Given the description of an element on the screen output the (x, y) to click on. 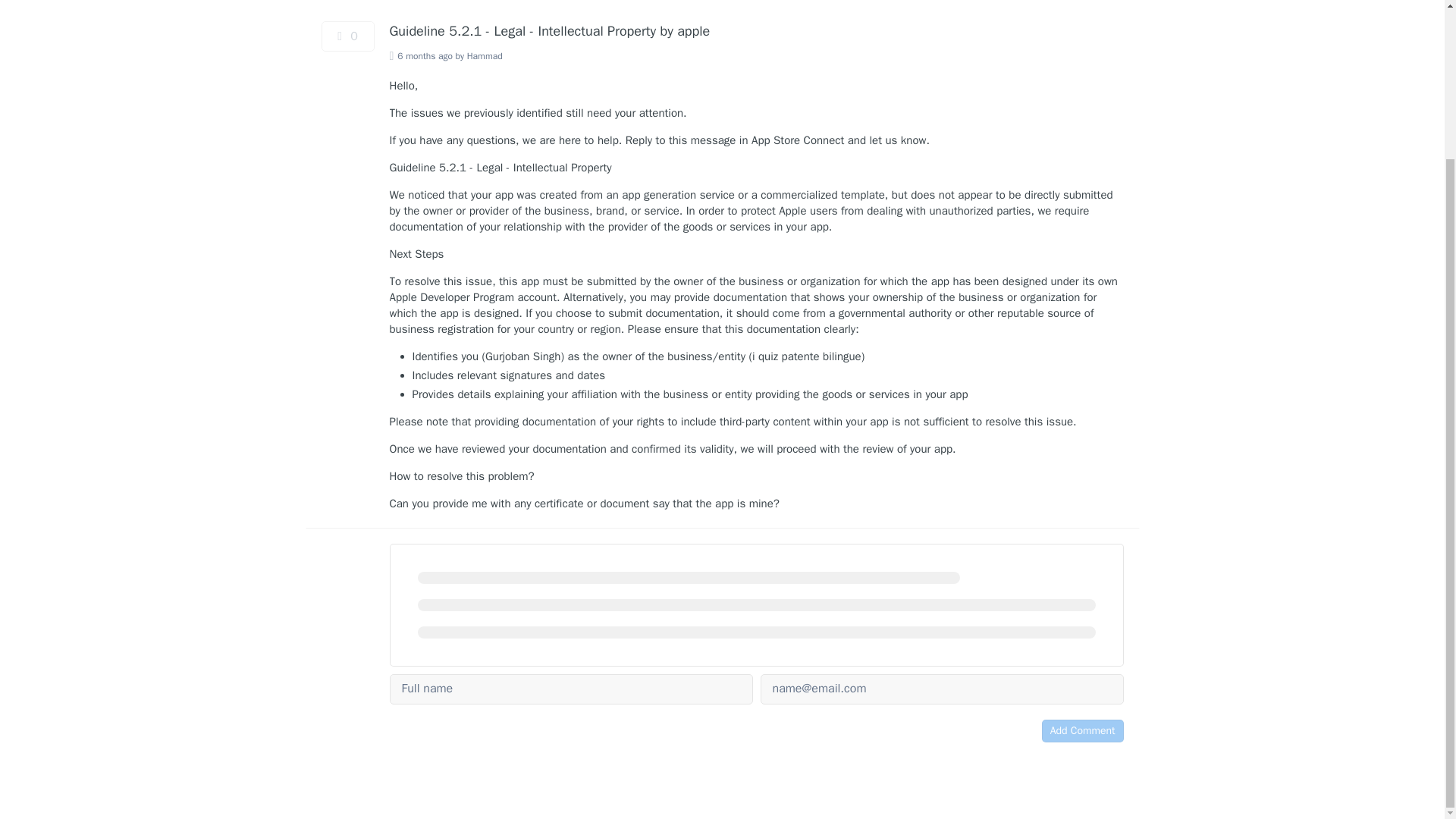
Add Comment (1083, 730)
0 (347, 36)
